Given the description of an element on the screen output the (x, y) to click on. 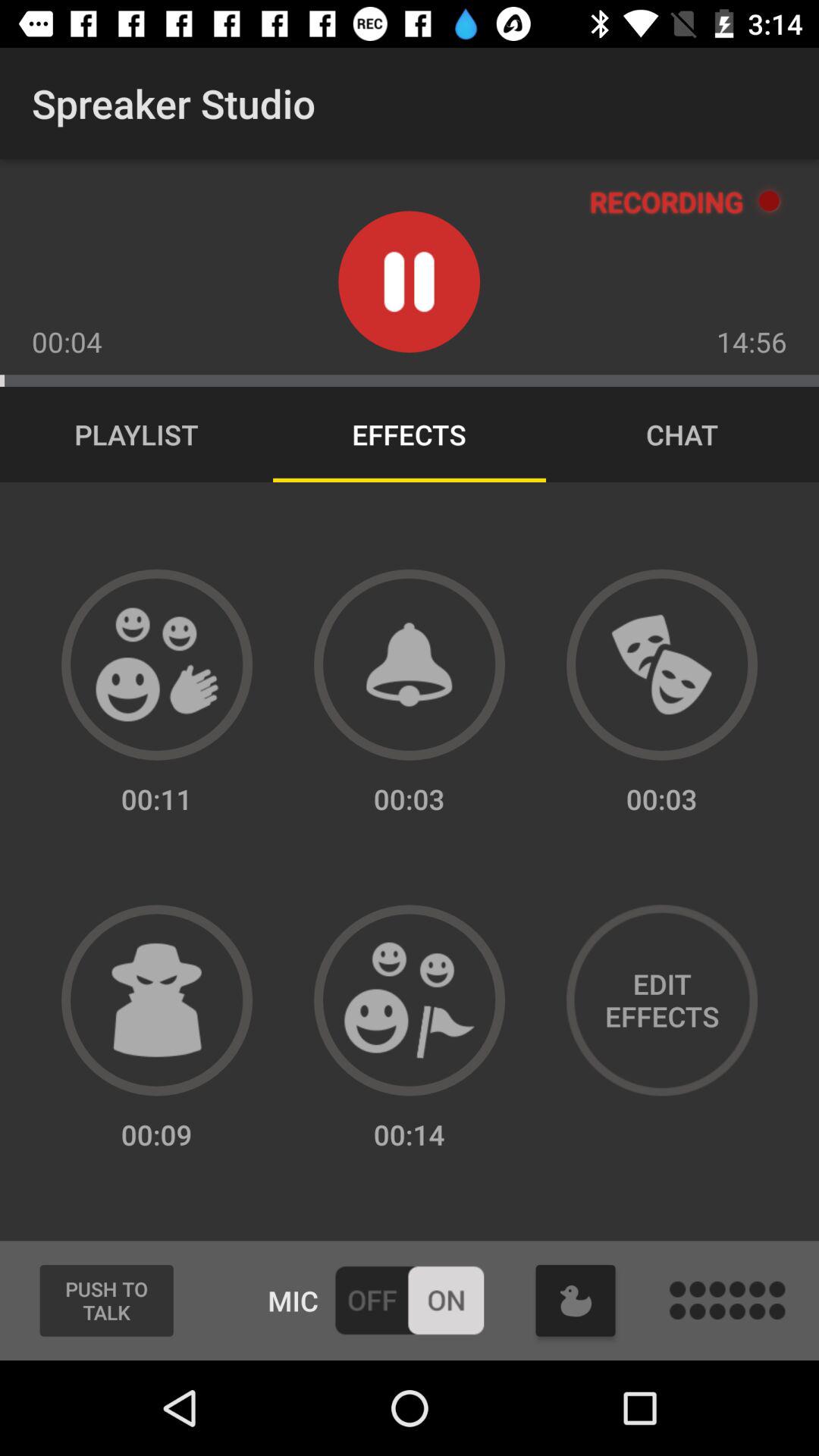
open the icon next to the mic item (106, 1300)
